Given the description of an element on the screen output the (x, y) to click on. 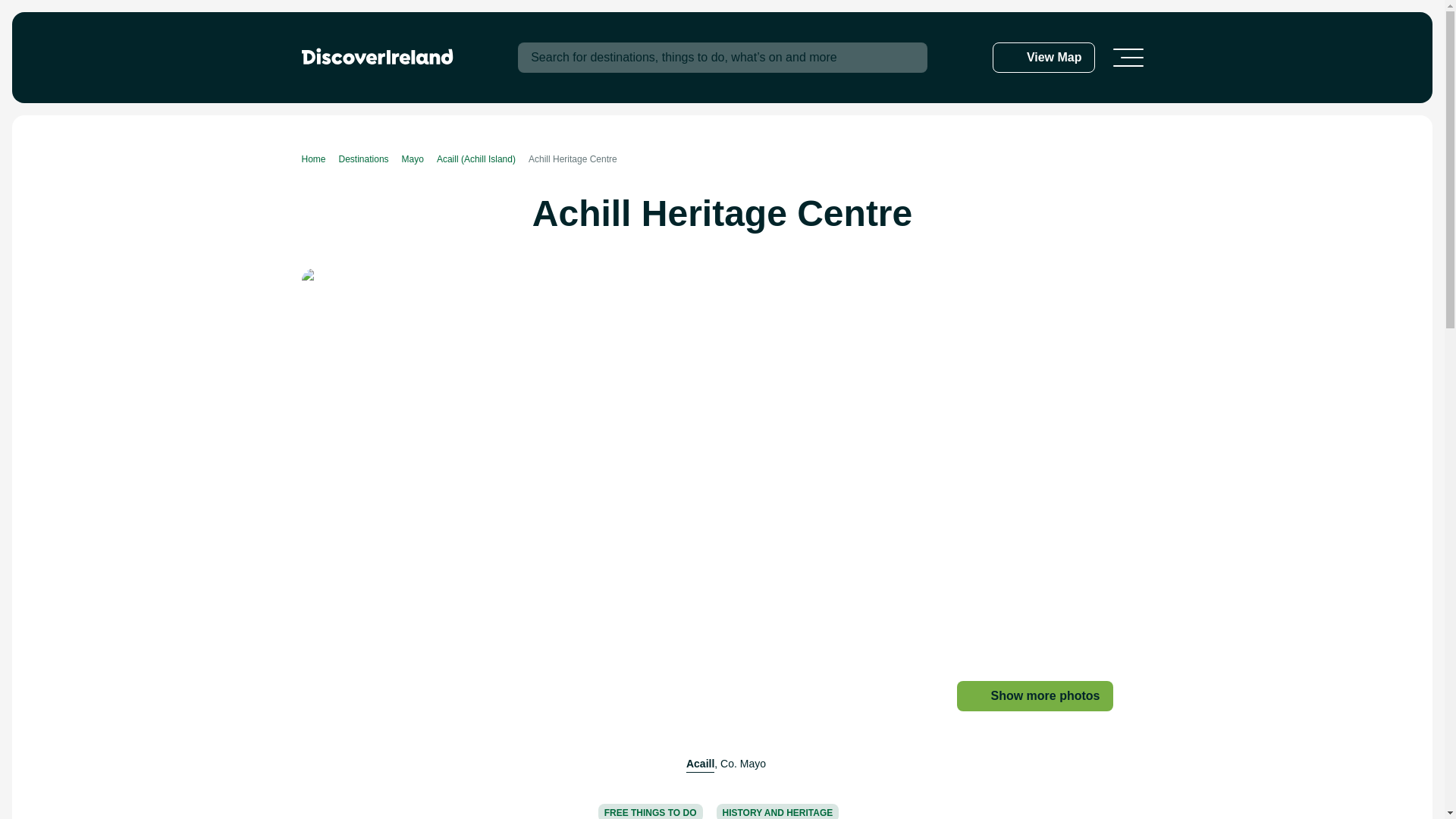
Home (320, 159)
HISTORY AND HERITAGE (777, 811)
Acaill (699, 763)
Destinations (370, 159)
Mayo (418, 159)
Click to go back to the homepage (376, 55)
Show more photos (1034, 695)
View Map (1043, 57)
FREE THINGS TO DO (650, 811)
